Given the description of an element on the screen output the (x, y) to click on. 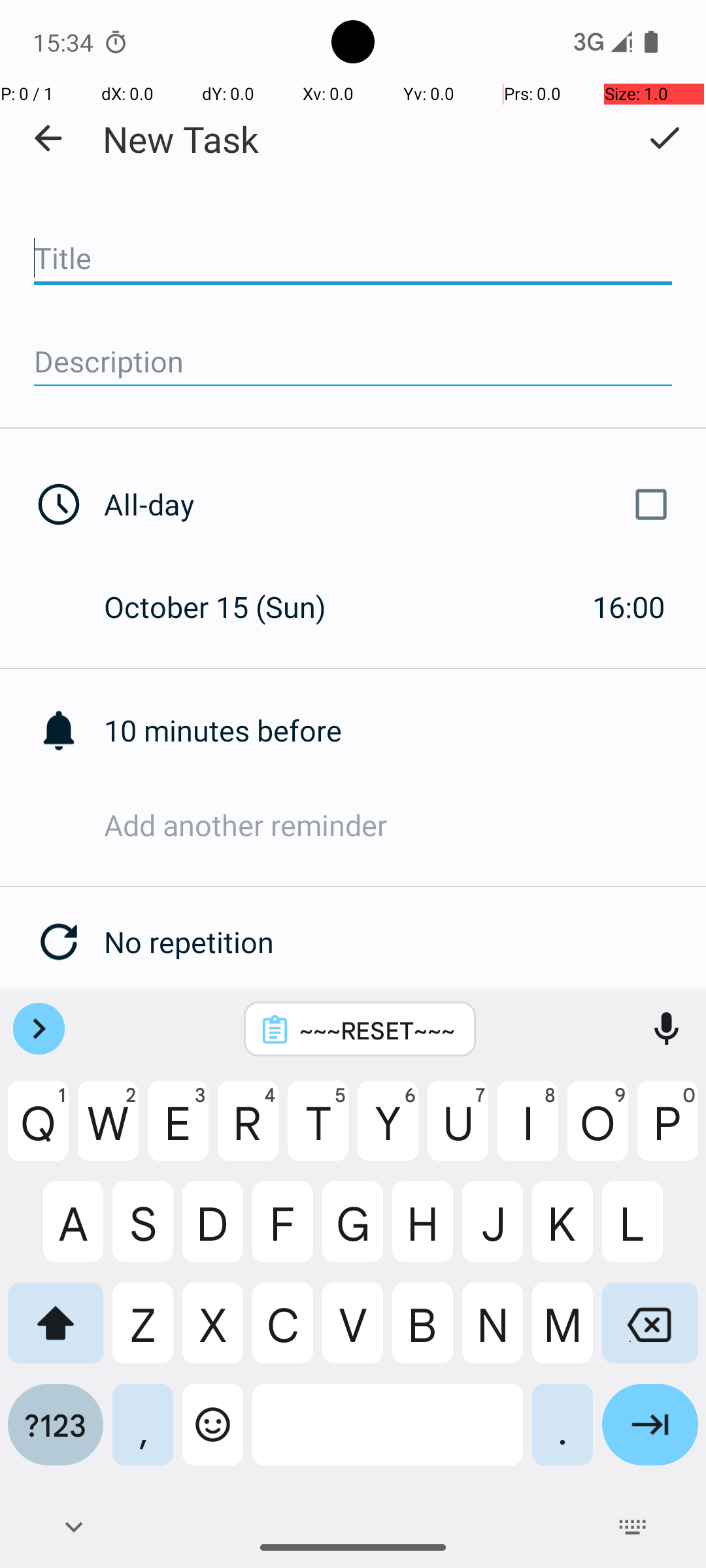
New Task Element type: android.widget.TextView (180, 138)
